Given the description of an element on the screen output the (x, y) to click on. 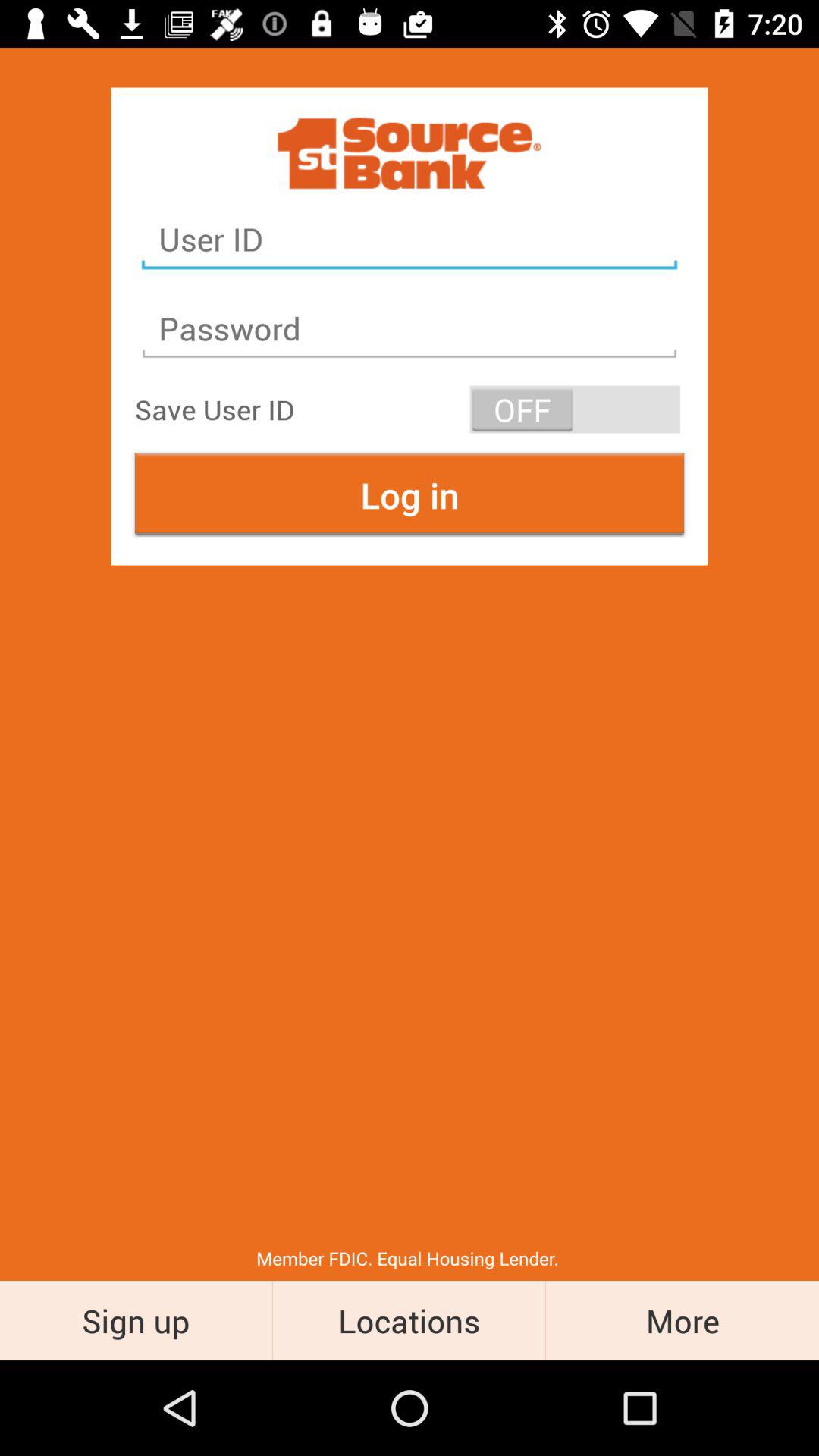
jump to log in icon (409, 494)
